Given the description of an element on the screen output the (x, y) to click on. 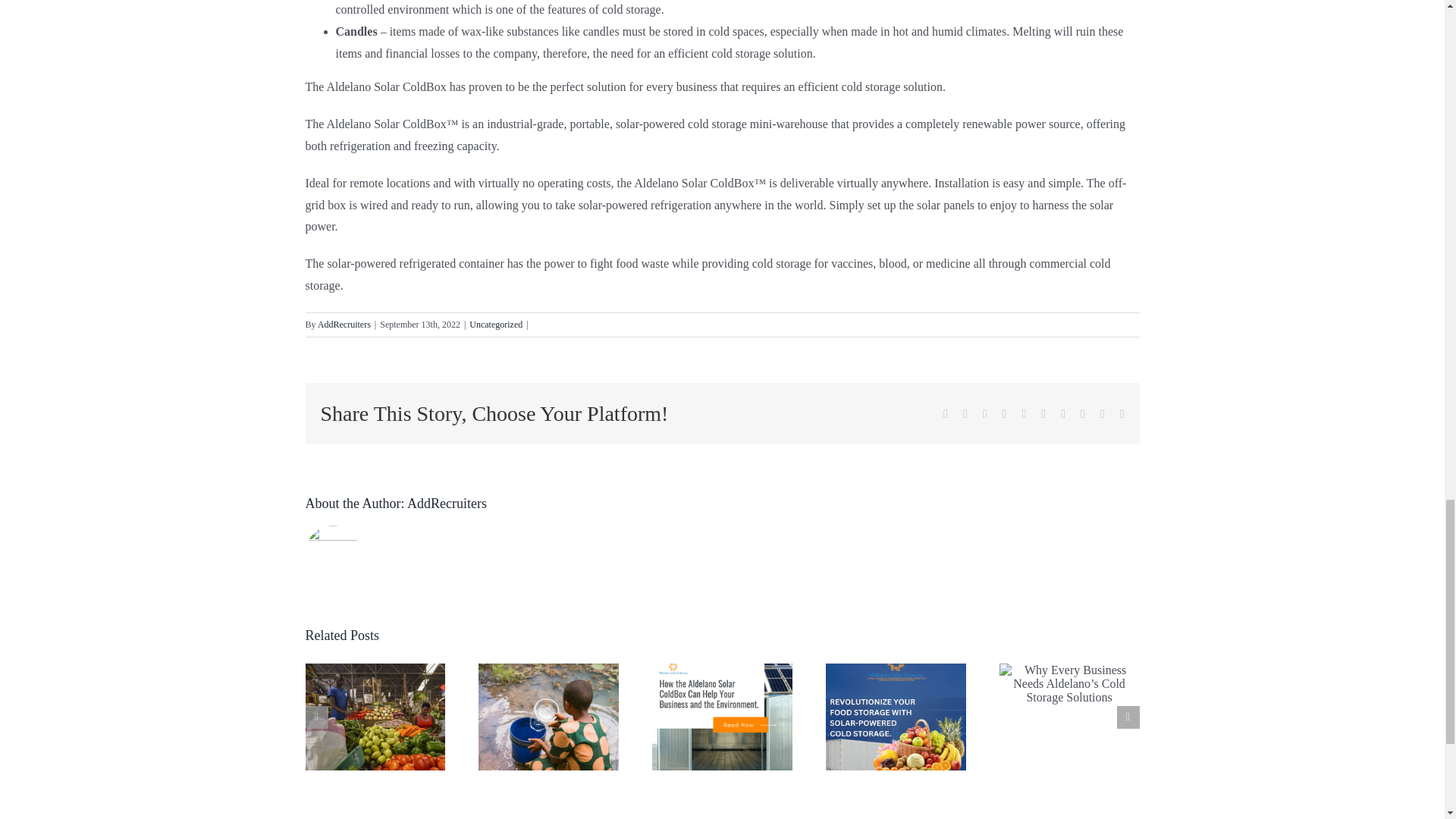
Posts by AddRecruiters (446, 503)
Posts by AddRecruiters (344, 324)
